Given the description of an element on the screen output the (x, y) to click on. 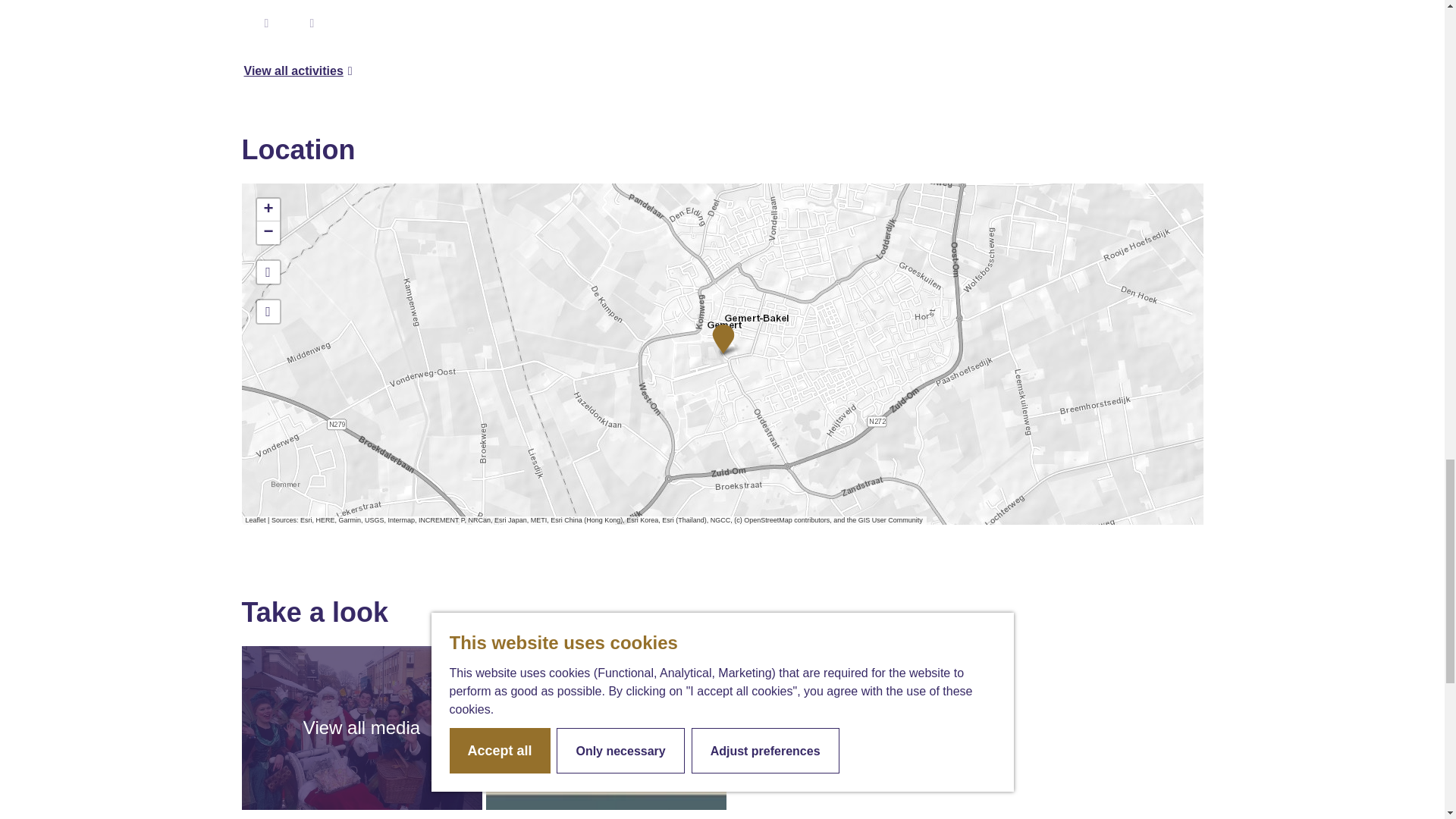
View Fullscreen (267, 272)
Show me on the map (267, 311)
Zoom out (267, 232)
Zoom in (267, 210)
